Given the description of an element on the screen output the (x, y) to click on. 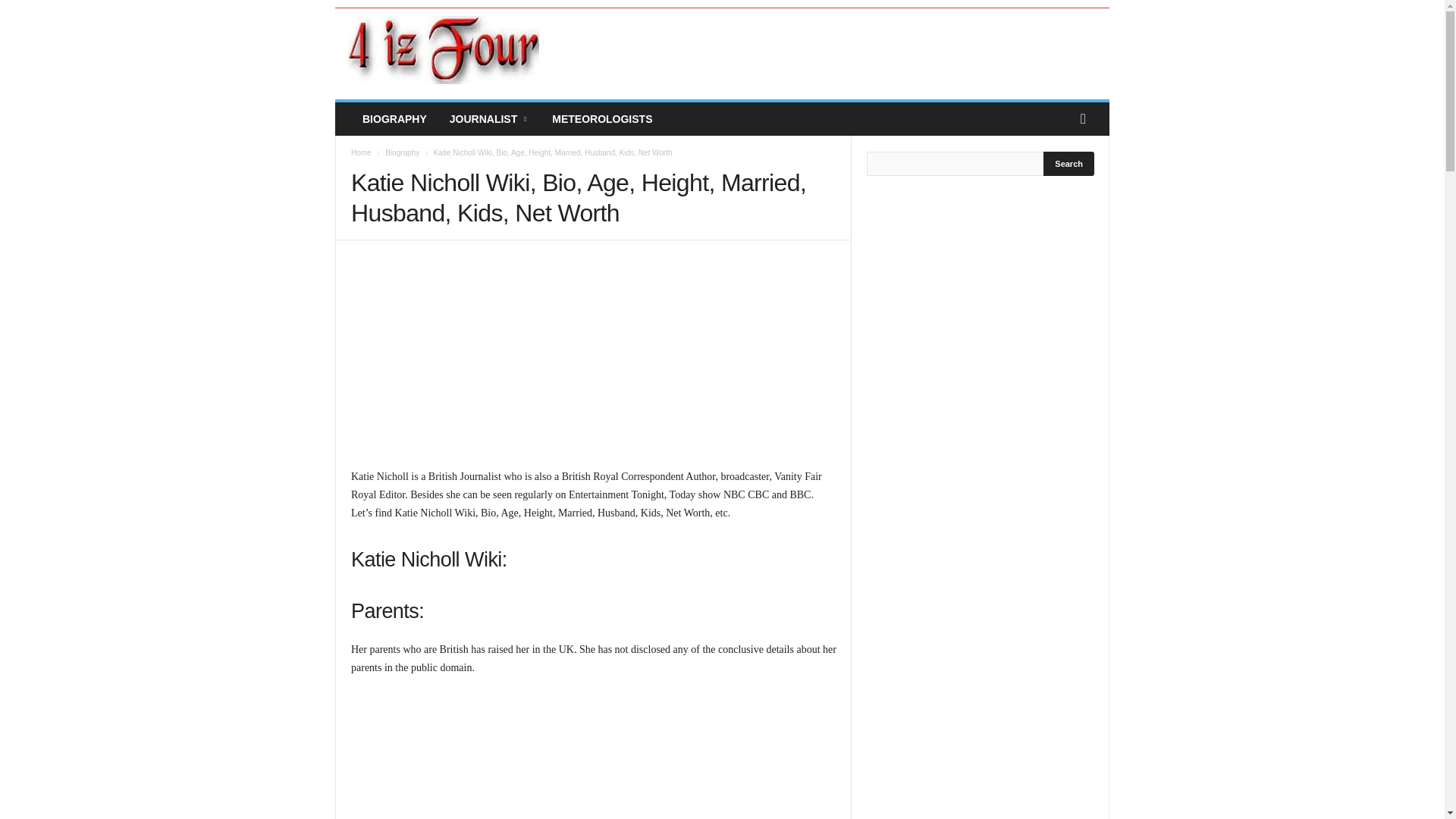
BIOGRAPHY (394, 118)
Biography (402, 152)
Search (1068, 163)
Advertisement (829, 49)
Advertisement (592, 361)
View all posts in Biography (402, 152)
4iz4 (442, 49)
Search (1068, 163)
METEOROLOGISTS (601, 118)
Advertisement (592, 757)
Home (360, 152)
JOURNALIST (489, 118)
